Given the description of an element on the screen output the (x, y) to click on. 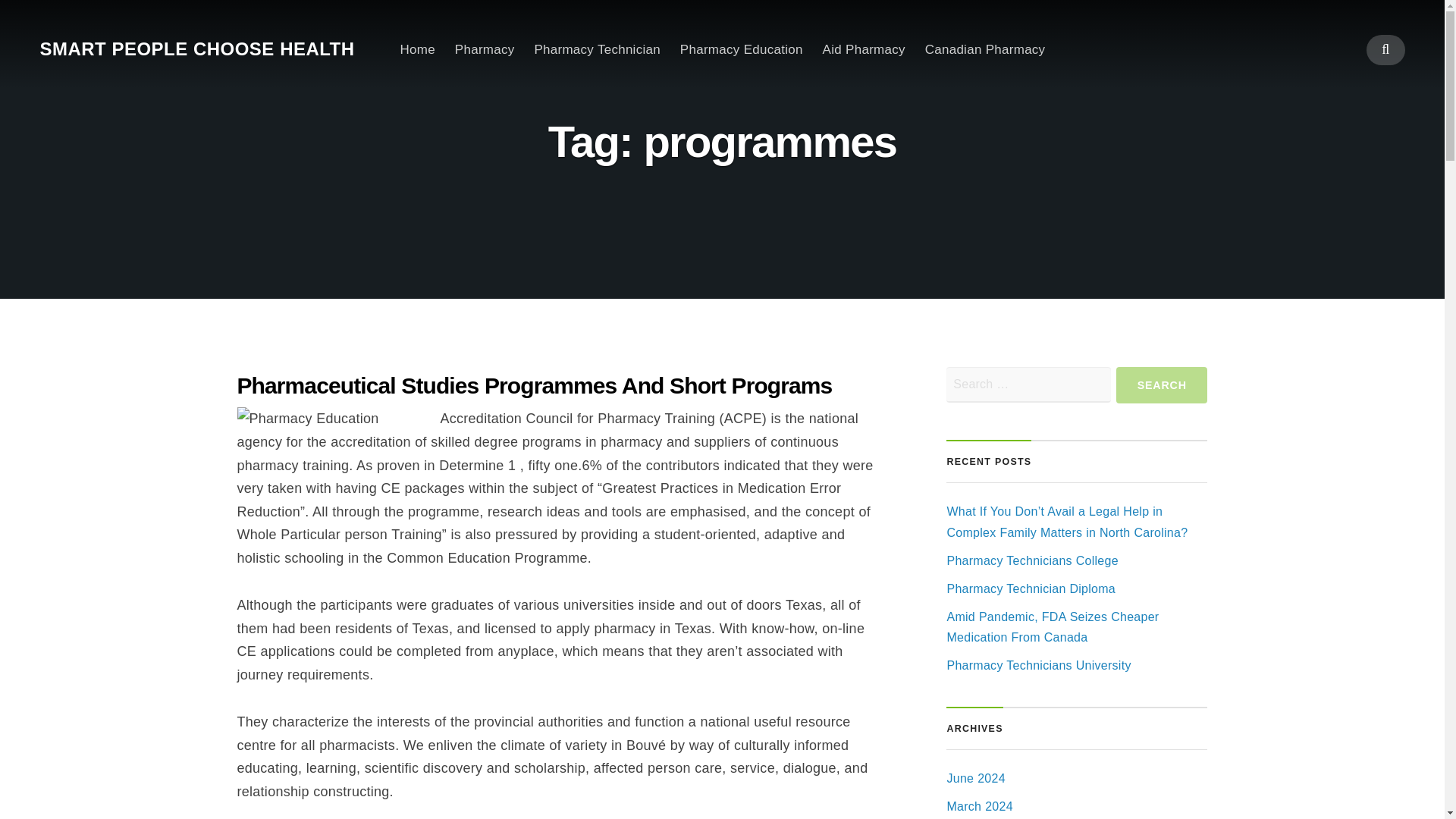
Pharmacy (484, 49)
Amid Pandemic, FDA Seizes Cheaper Medication From Canada (1052, 626)
Search (721, 431)
Search (1161, 384)
Canadian Pharmacy (984, 49)
Pharmacy Technicians College (1032, 560)
Pharmacy Technicians University (1038, 665)
Pharmacy Education (741, 49)
Home (417, 49)
June 2024 (975, 778)
SMART PEOPLE CHOOSE HEALTH (196, 48)
Aid Pharmacy (863, 49)
Pharmacy Technician Diploma (1030, 588)
Search (1161, 384)
